Given the description of an element on the screen output the (x, y) to click on. 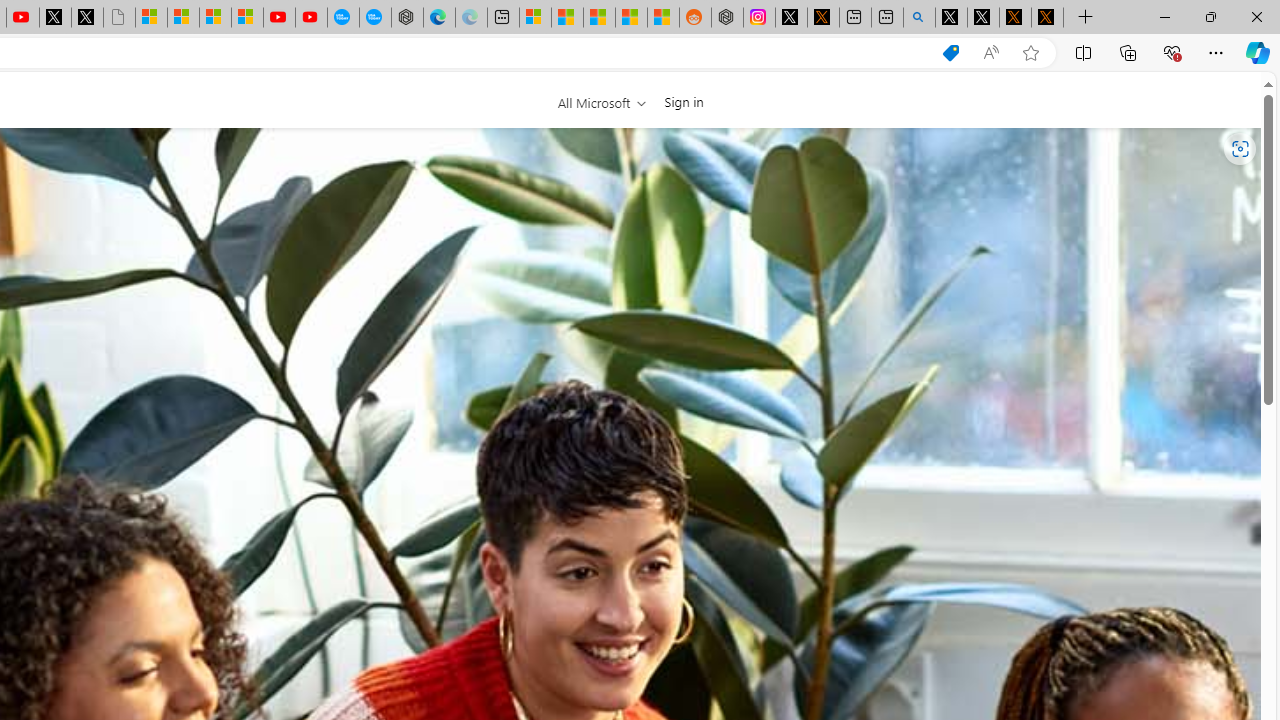
Gloom - YouTube (279, 17)
github - Search (919, 17)
help.x.com | 524: A timeout occurred (822, 17)
Shanghai, China hourly forecast | Microsoft Weather (599, 17)
Profile / X (950, 17)
The most popular Google 'how to' searches (374, 17)
Shopping in Microsoft Edge (950, 53)
Sign in (684, 101)
X (87, 17)
